Given the description of an element on the screen output the (x, y) to click on. 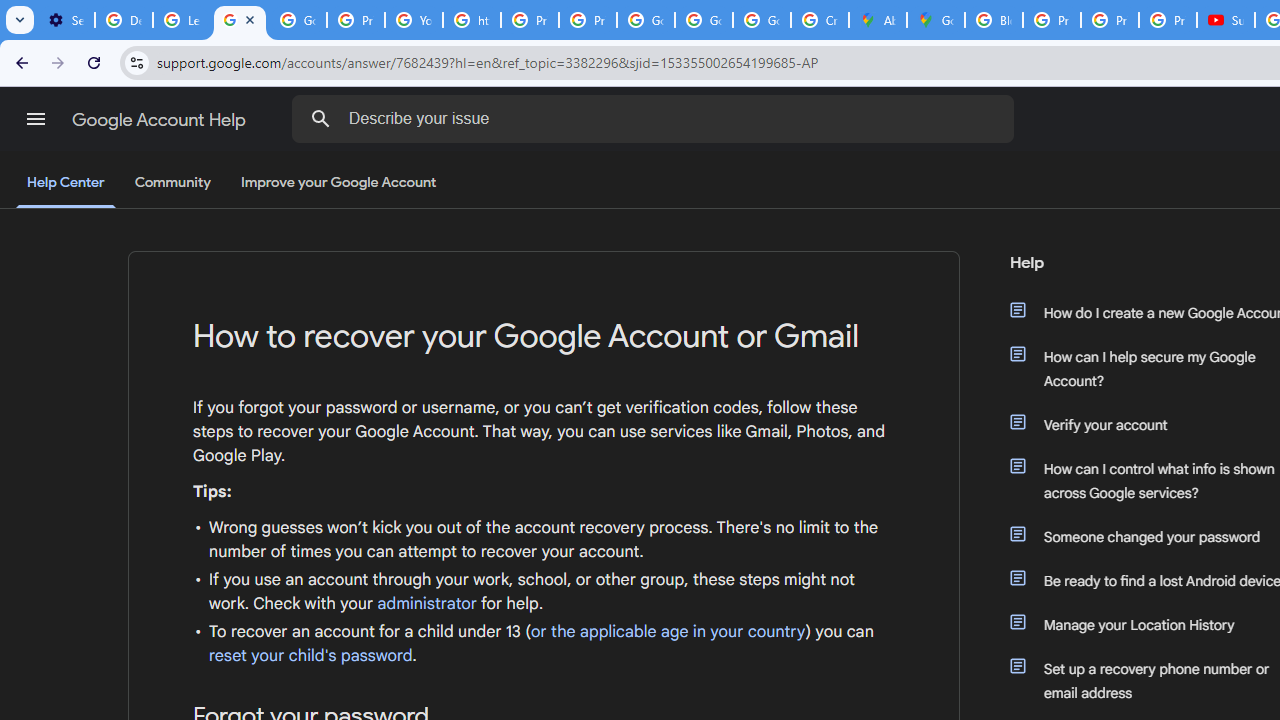
reset your child's password (310, 655)
administrator (427, 604)
Blogger Policies and Guidelines - Transparency Center (993, 20)
